Given the description of an element on the screen output the (x, y) to click on. 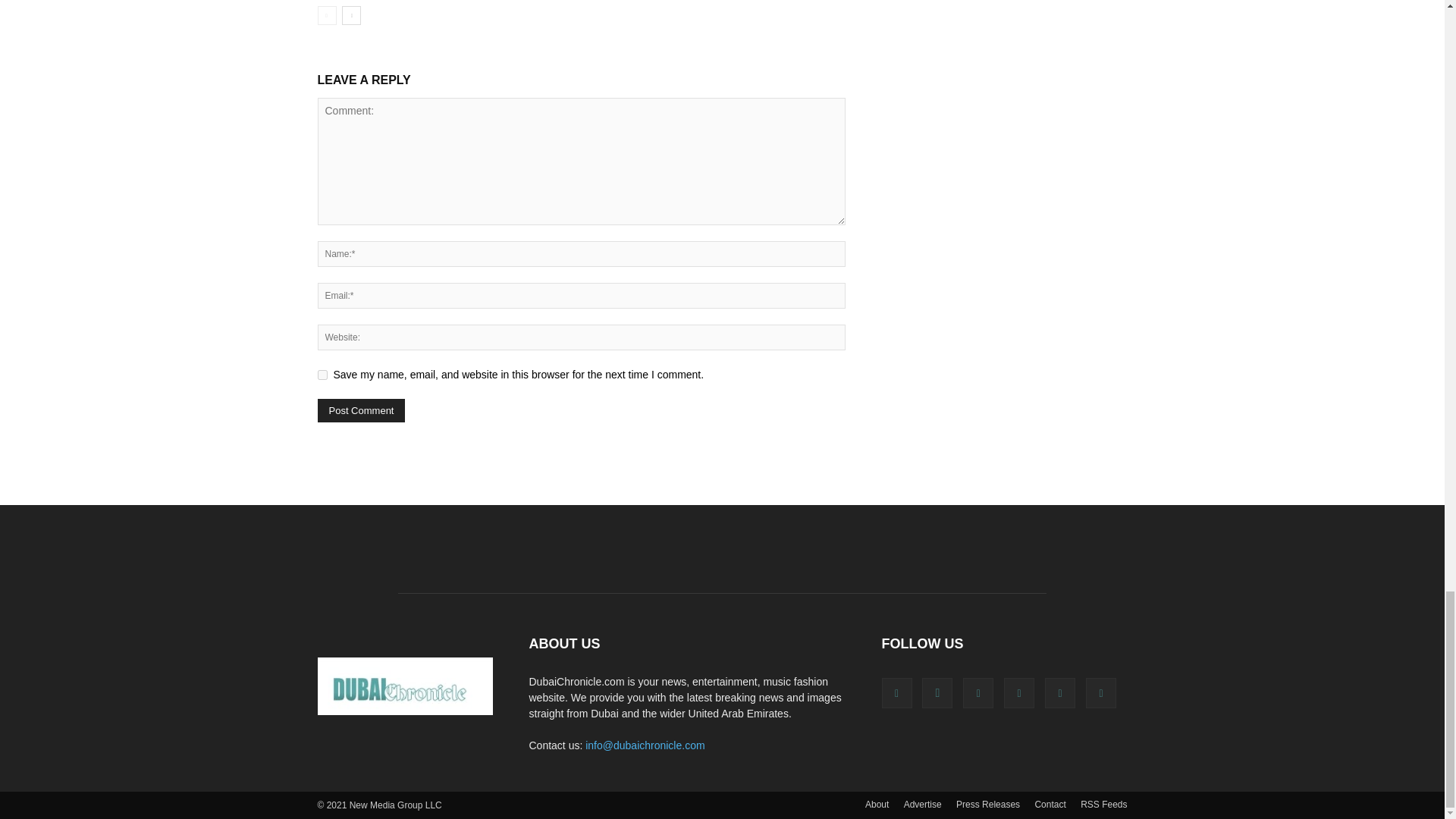
Post Comment (360, 410)
yes (321, 375)
